Given the description of an element on the screen output the (x, y) to click on. 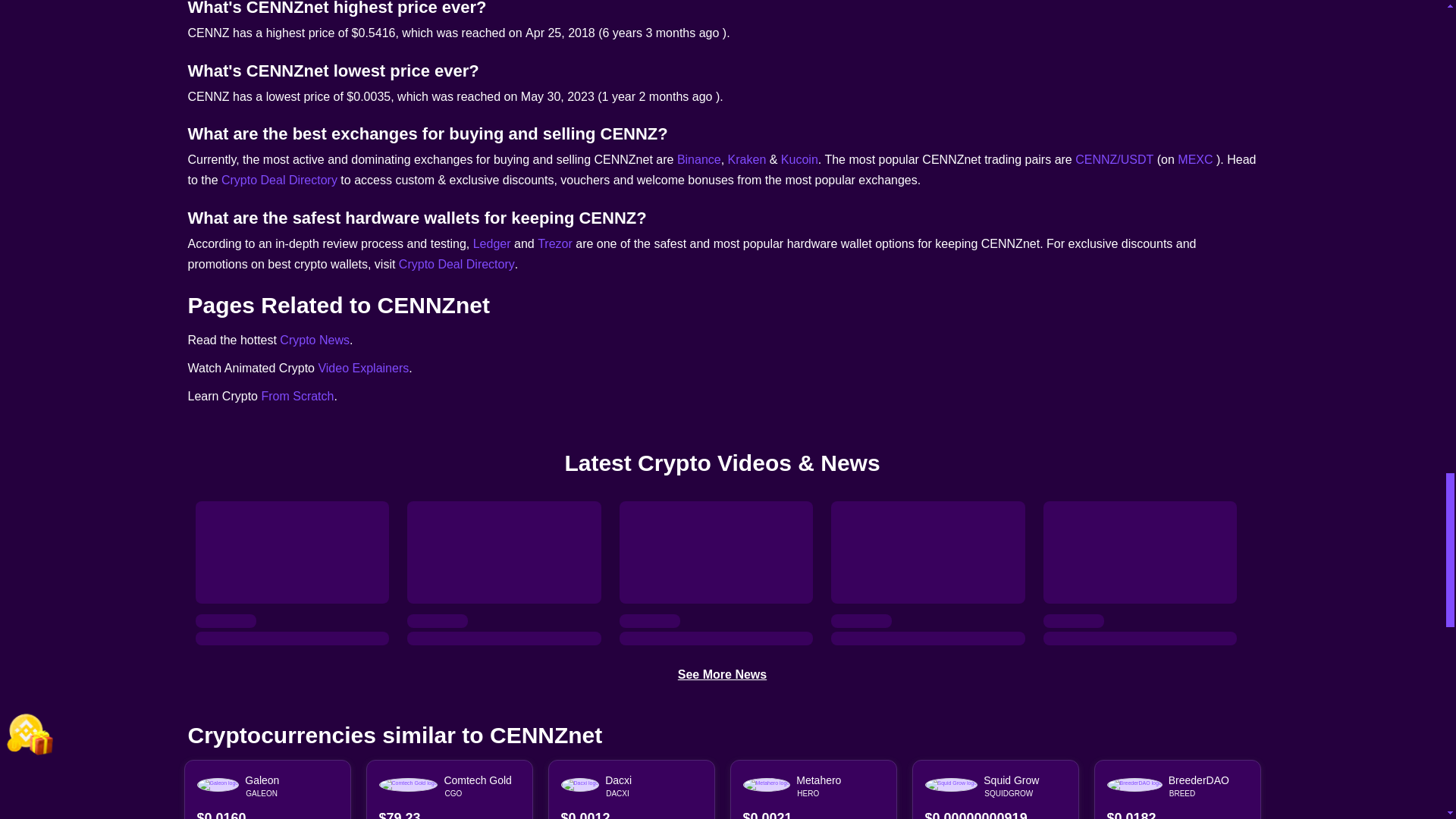
Galeon logo (218, 784)
Comtech Gold logo (408, 784)
BreederDAO logo (1133, 784)
Metahero logo (766, 784)
Dacxi logo (579, 784)
Squid Grow logo (951, 784)
